Given the description of an element on the screen output the (x, y) to click on. 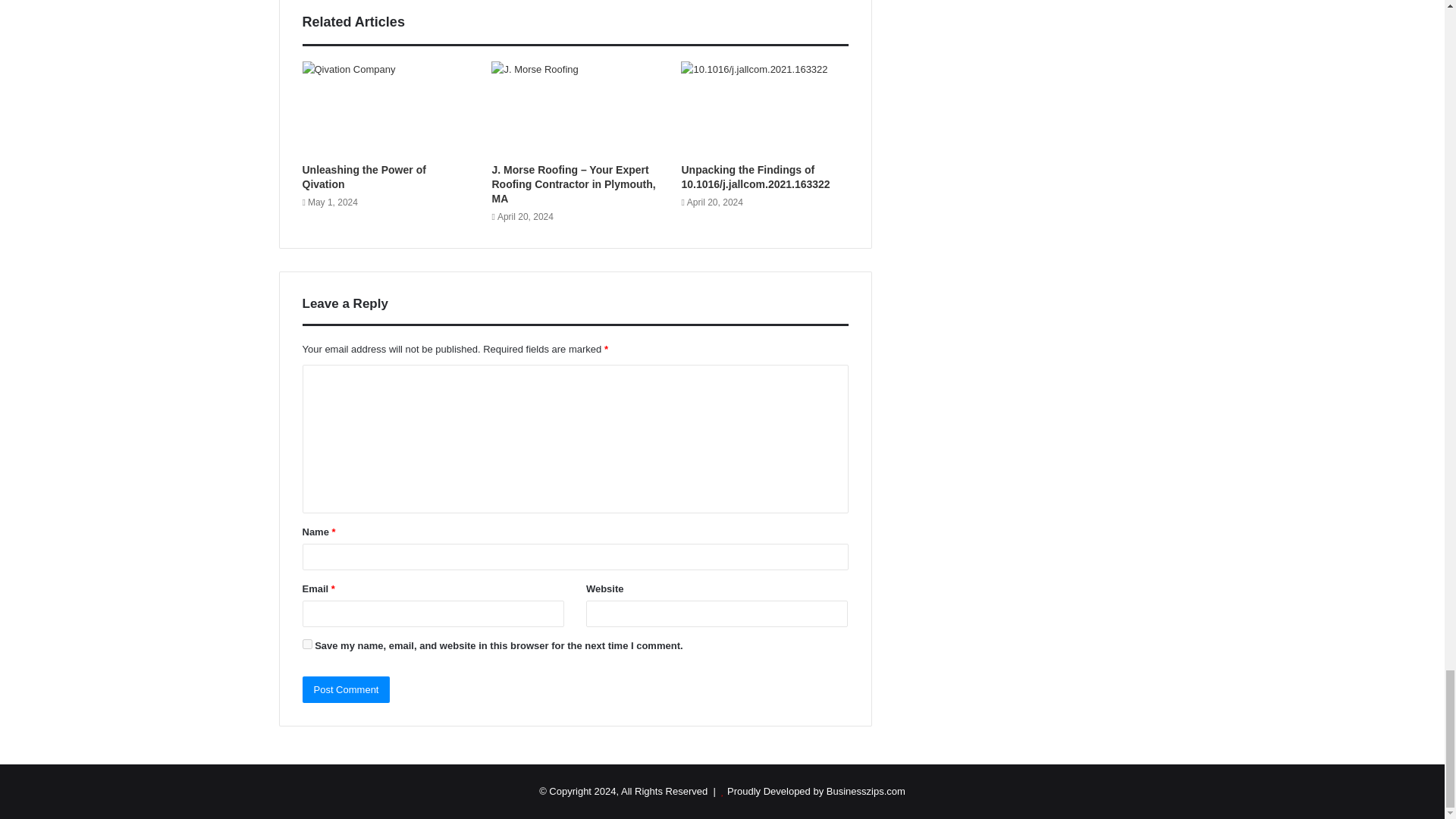
yes (306, 644)
Post Comment (345, 689)
Post Comment (345, 689)
Unleashing the Power of Qivation (363, 176)
